Given the description of an element on the screen output the (x, y) to click on. 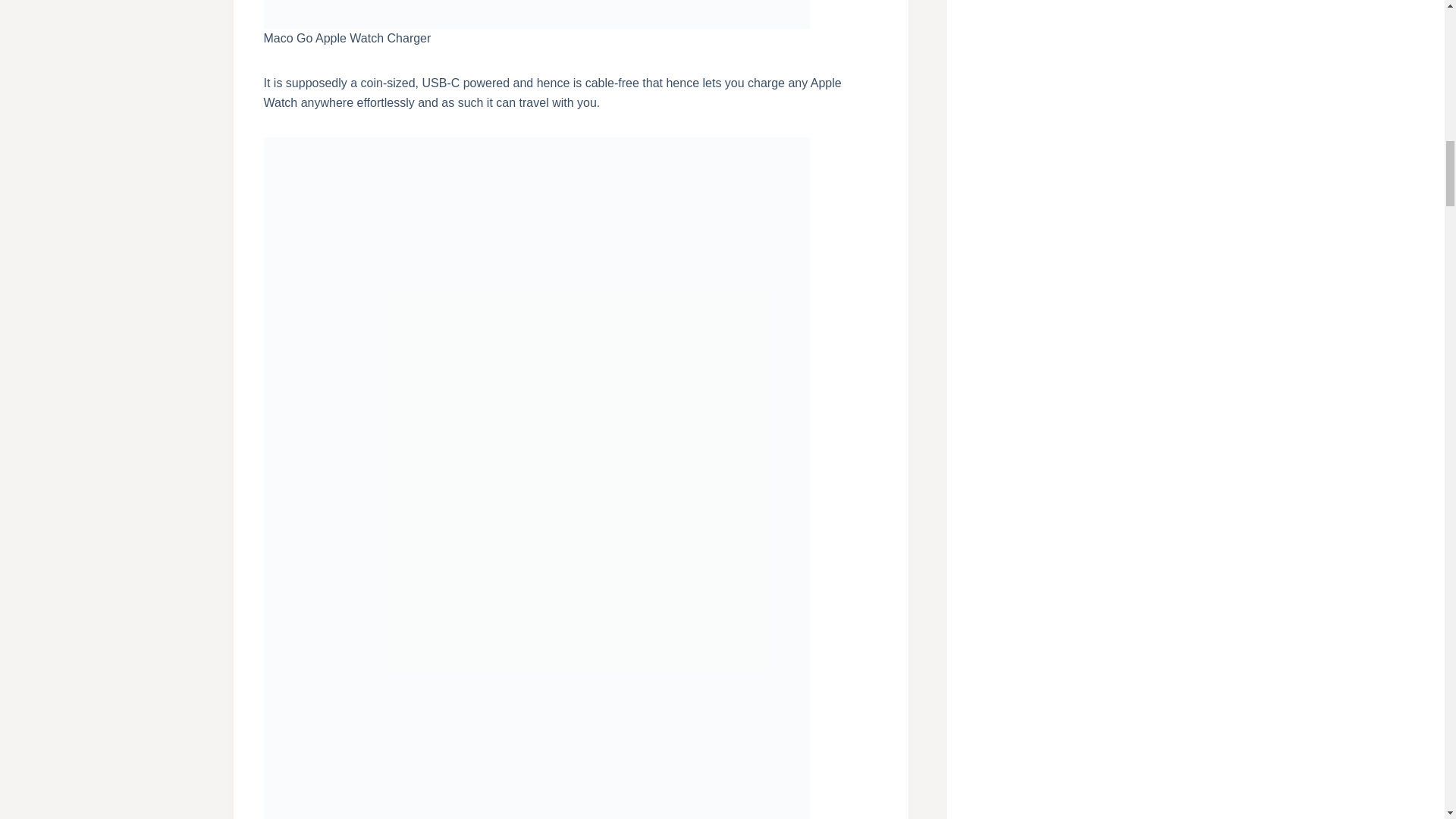
Maco Go Apple Watch Charger 2 (536, 14)
